Given the description of an element on the screen output the (x, y) to click on. 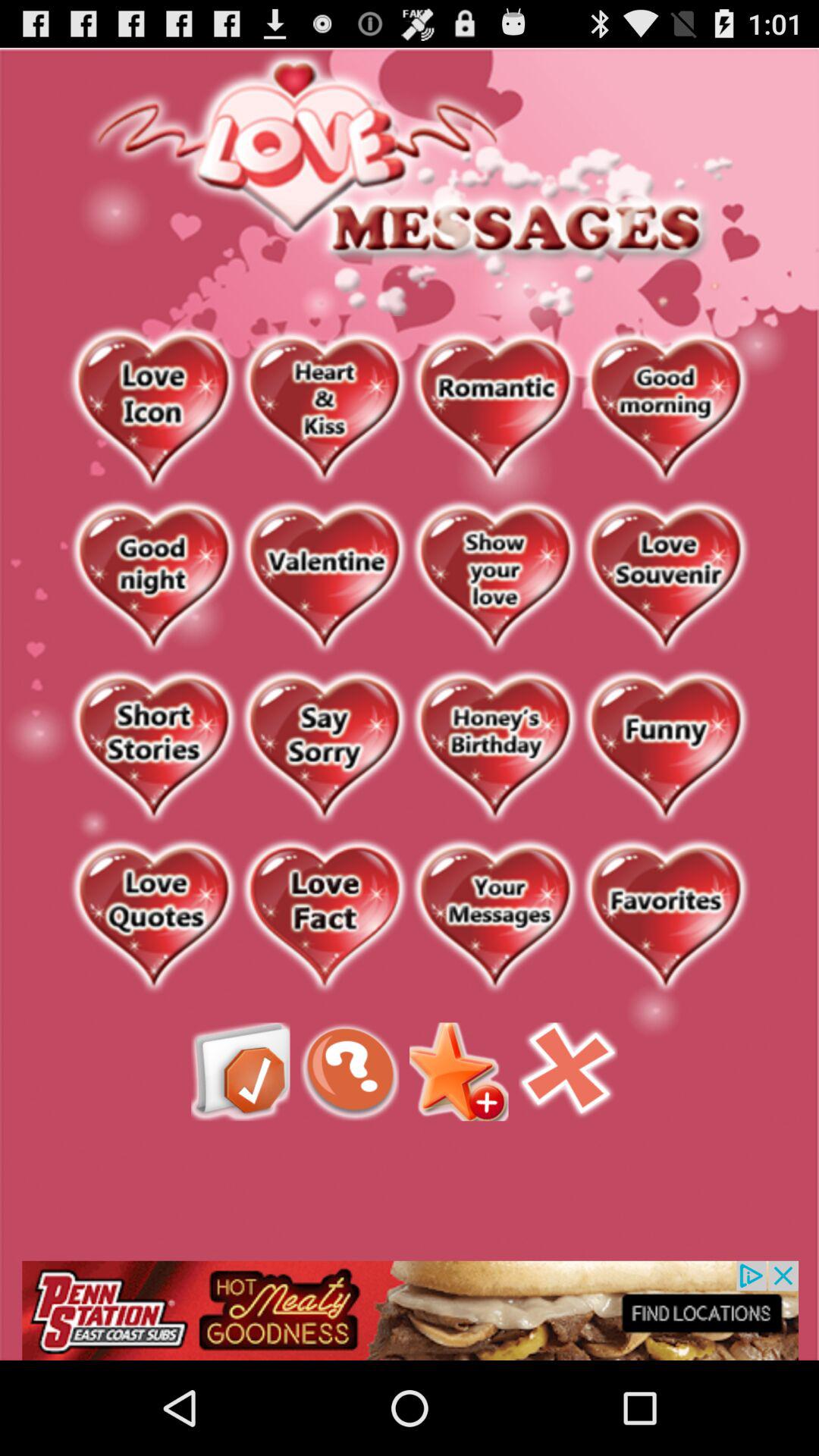
message honeys birthday (494, 747)
